Given the description of an element on the screen output the (x, y) to click on. 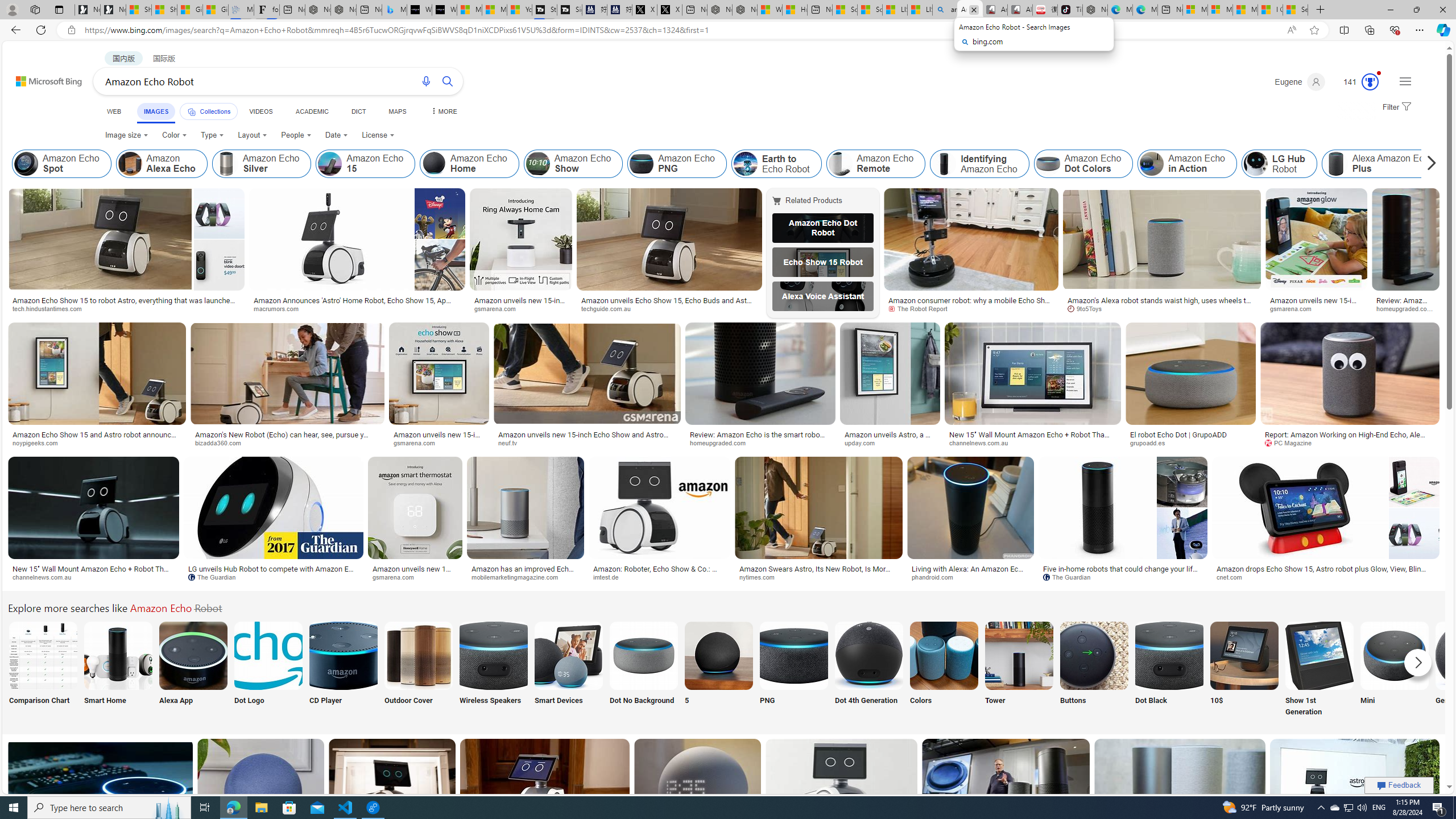
Amazon Echo Smart Devices Smart Devices (568, 669)
Microsoft Start Sports (469, 9)
9to5Toys (1088, 308)
cnet.com (1326, 576)
PC Magazine (1350, 442)
bizadda360.com (287, 442)
